Given the description of an element on the screen output the (x, y) to click on. 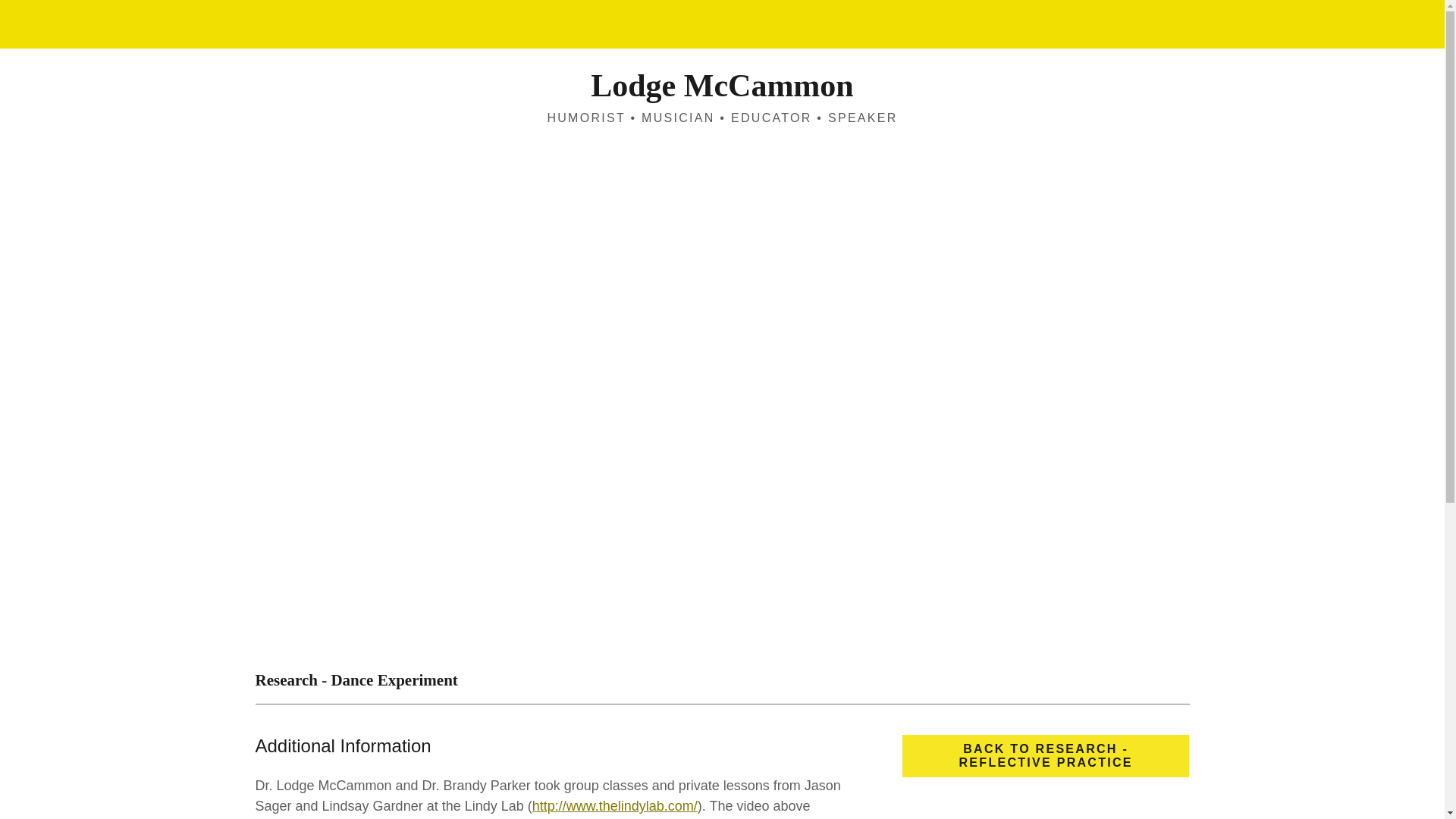
BACK TO RESEARCH - REFLECTIVE PRACTICE (1045, 755)
Lodge McCammon (722, 91)
Lodge McCammon (722, 91)
